Given the description of an element on the screen output the (x, y) to click on. 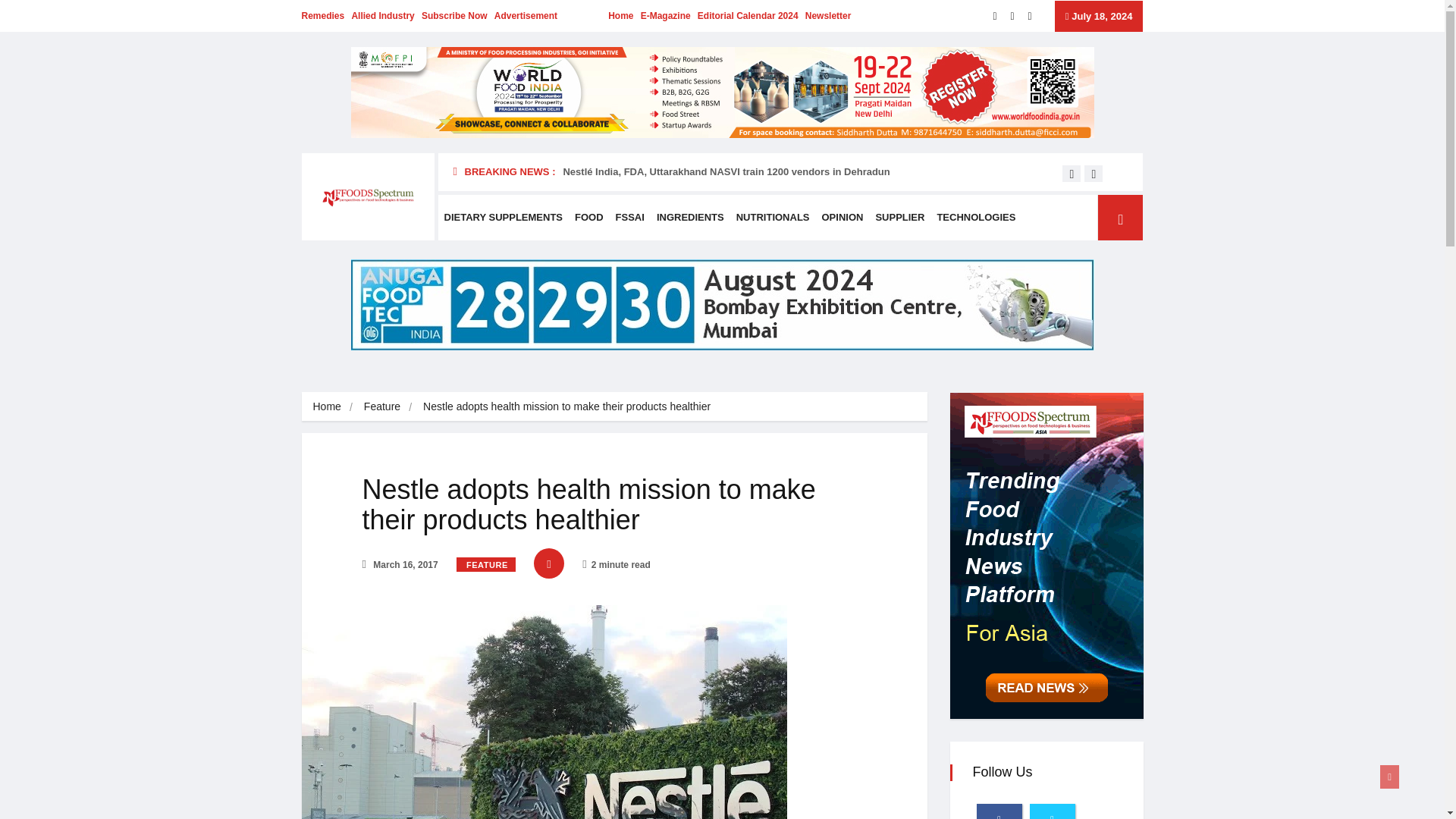
Home (326, 406)
TECHNOLOGIES (976, 217)
Editorial Calendar 2024 (747, 15)
FSSAI (630, 217)
INGREDIENTS (690, 217)
Feature (382, 406)
FOOD (589, 217)
Advertisement (526, 15)
E-Magazine (665, 15)
Allied Industry (381, 15)
Subscribe Now (454, 15)
Remedies (323, 15)
NUTRITIONALS (772, 217)
Newsletter (828, 15)
SUPPLIER (899, 217)
